Given the description of an element on the screen output the (x, y) to click on. 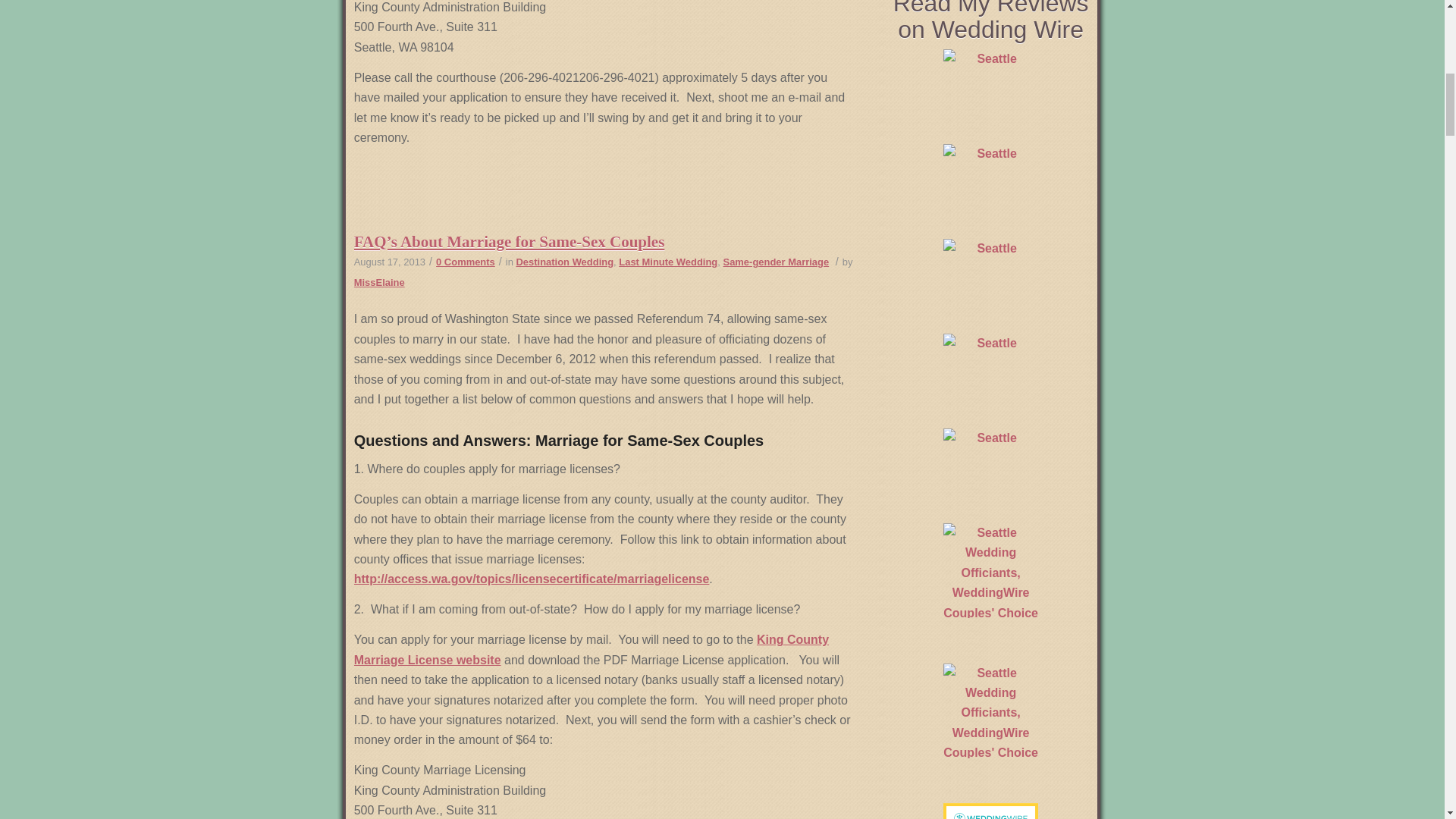
Last Minute Wedding (667, 261)
Destination Wedding (563, 261)
King County Marriage License website (590, 649)
0 Comments (465, 261)
Same-gender Marriage (776, 261)
Posts by MissElaine (378, 282)
MissElaine (378, 282)
